Given the description of an element on the screen output the (x, y) to click on. 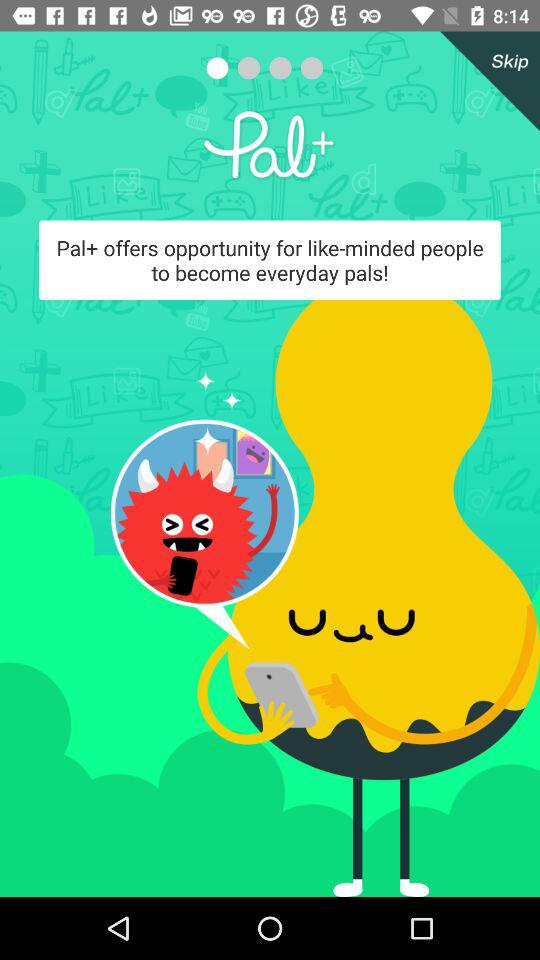
launch the icon at the top right corner (486, 81)
